Given the description of an element on the screen output the (x, y) to click on. 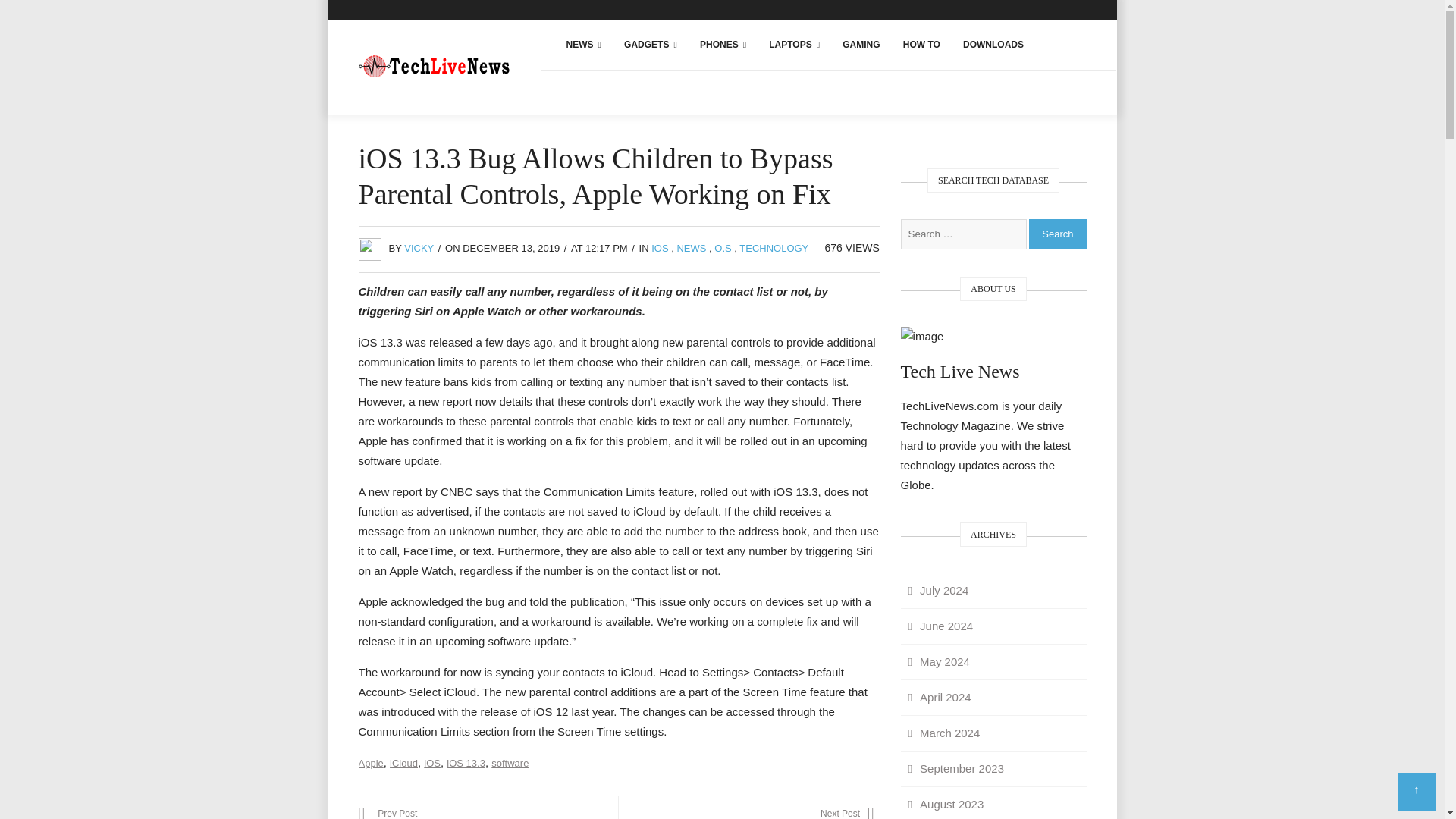
LAPTOPS (793, 44)
DOWNLOADS (993, 44)
NEWS (691, 247)
GAMING (860, 44)
PHONES (722, 44)
Search (1057, 233)
NEWS (583, 44)
O.S (722, 247)
VICKY (418, 247)
TECHNOLOGY (773, 247)
HOW TO (921, 44)
iOS (432, 763)
IOS (659, 247)
Apple (370, 763)
iOS 13.3 (465, 763)
